Given the description of an element on the screen output the (x, y) to click on. 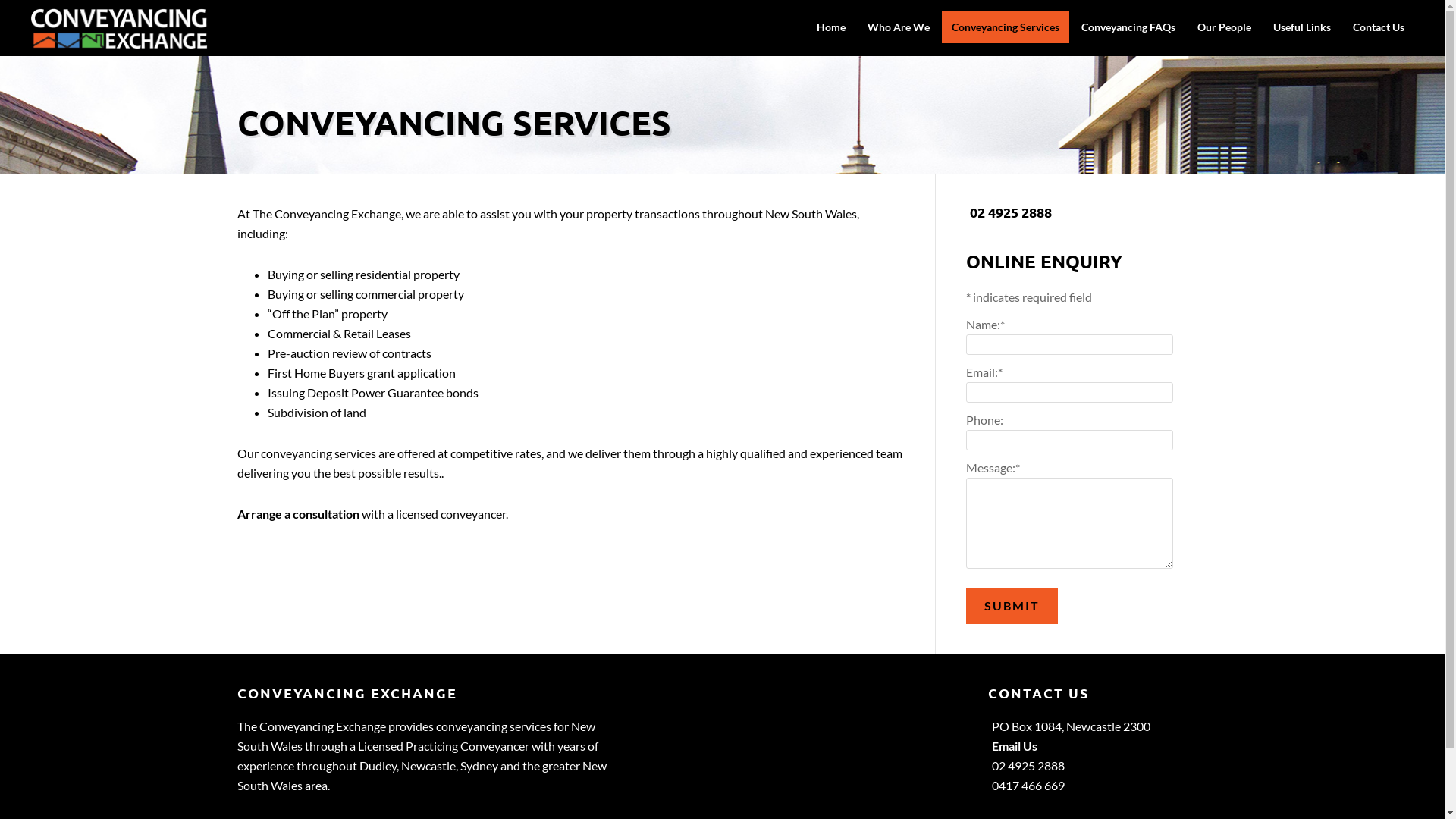
Email Us Element type: text (1014, 745)
Conveyancing Exchange Element type: hover (119, 39)
Who Are We Element type: text (898, 27)
Submit Element type: text (1011, 605)
Our People Element type: text (1224, 27)
Arrange a consultation Element type: text (297, 513)
02 4925 2888 Element type: text (1010, 211)
Conveyancing FAQs Element type: text (1128, 27)
Useful Links Element type: text (1301, 27)
Contact Us Element type: text (1378, 27)
Conveyancing Services Element type: text (1005, 27)
Home Element type: text (830, 27)
